Given the description of an element on the screen output the (x, y) to click on. 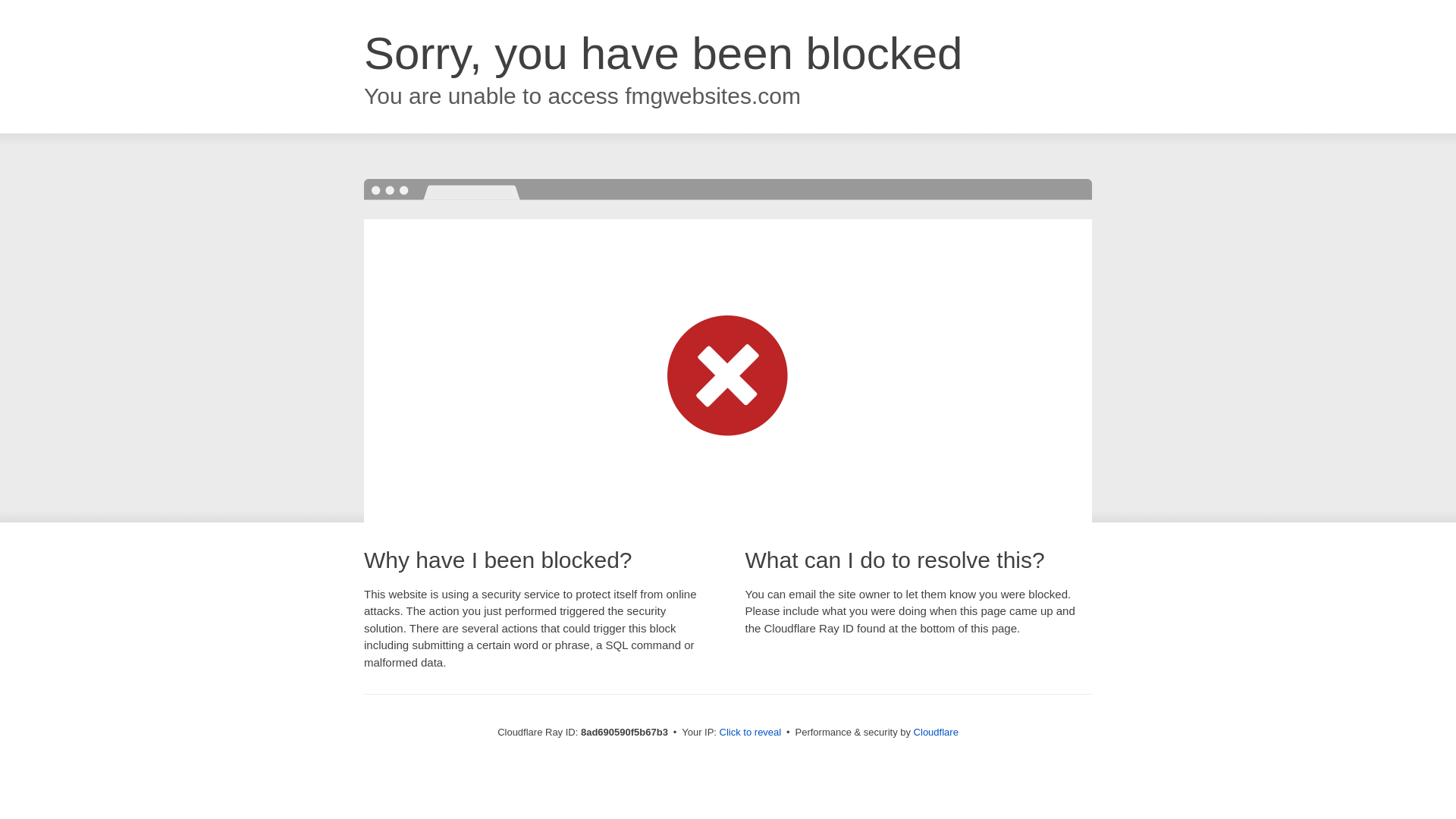
Click to reveal (750, 732)
Cloudflare (936, 731)
